Given the description of an element on the screen output the (x, y) to click on. 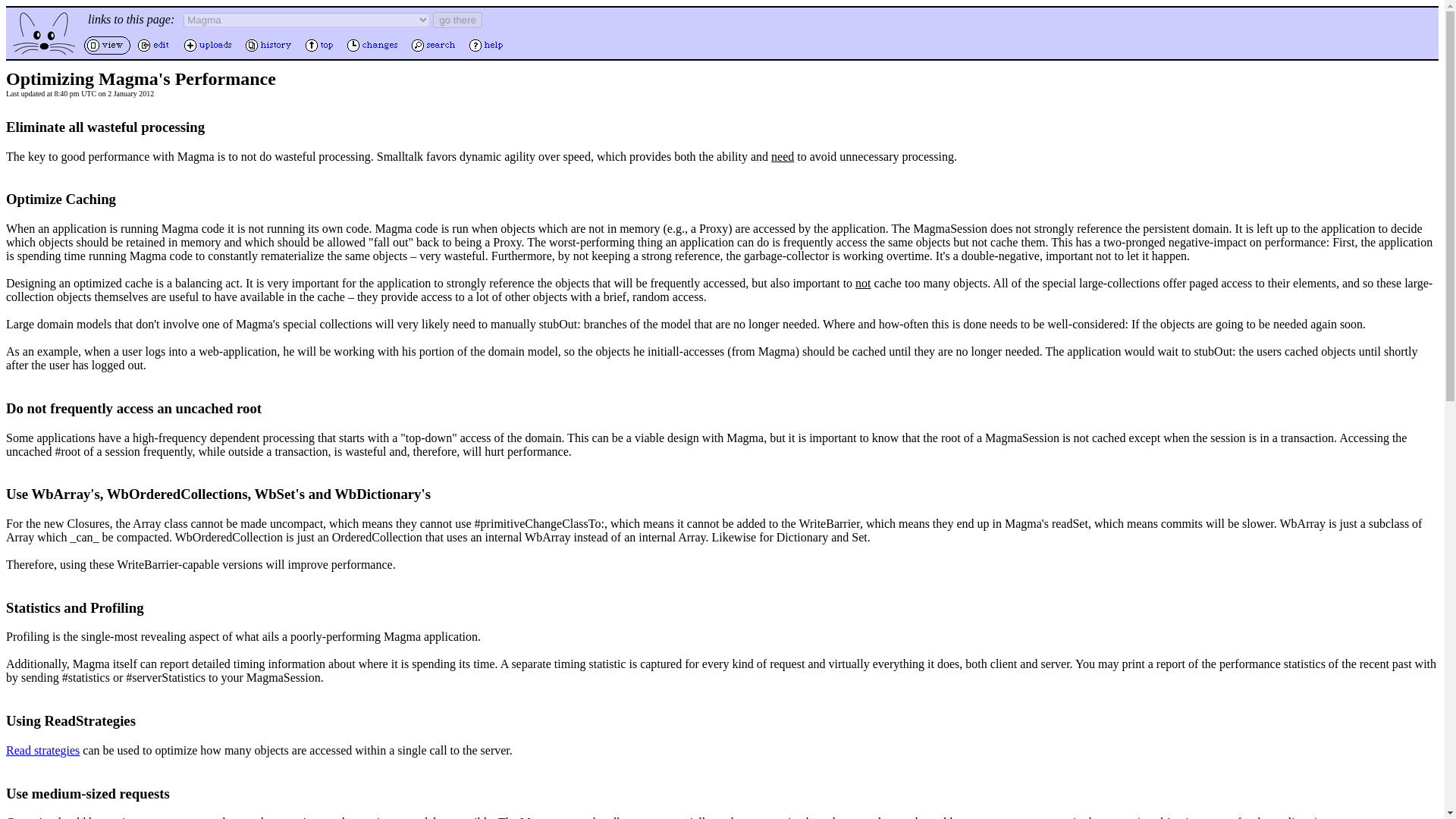
History of this Page (269, 51)
Read strategies (42, 749)
Edit this Page (155, 51)
Search the Swiki (435, 51)
Top of the Swiki (320, 51)
go there (456, 19)
Uploads to this Page (209, 51)
go there (456, 19)
Recent Changes (374, 51)
